Given the description of an element on the screen output the (x, y) to click on. 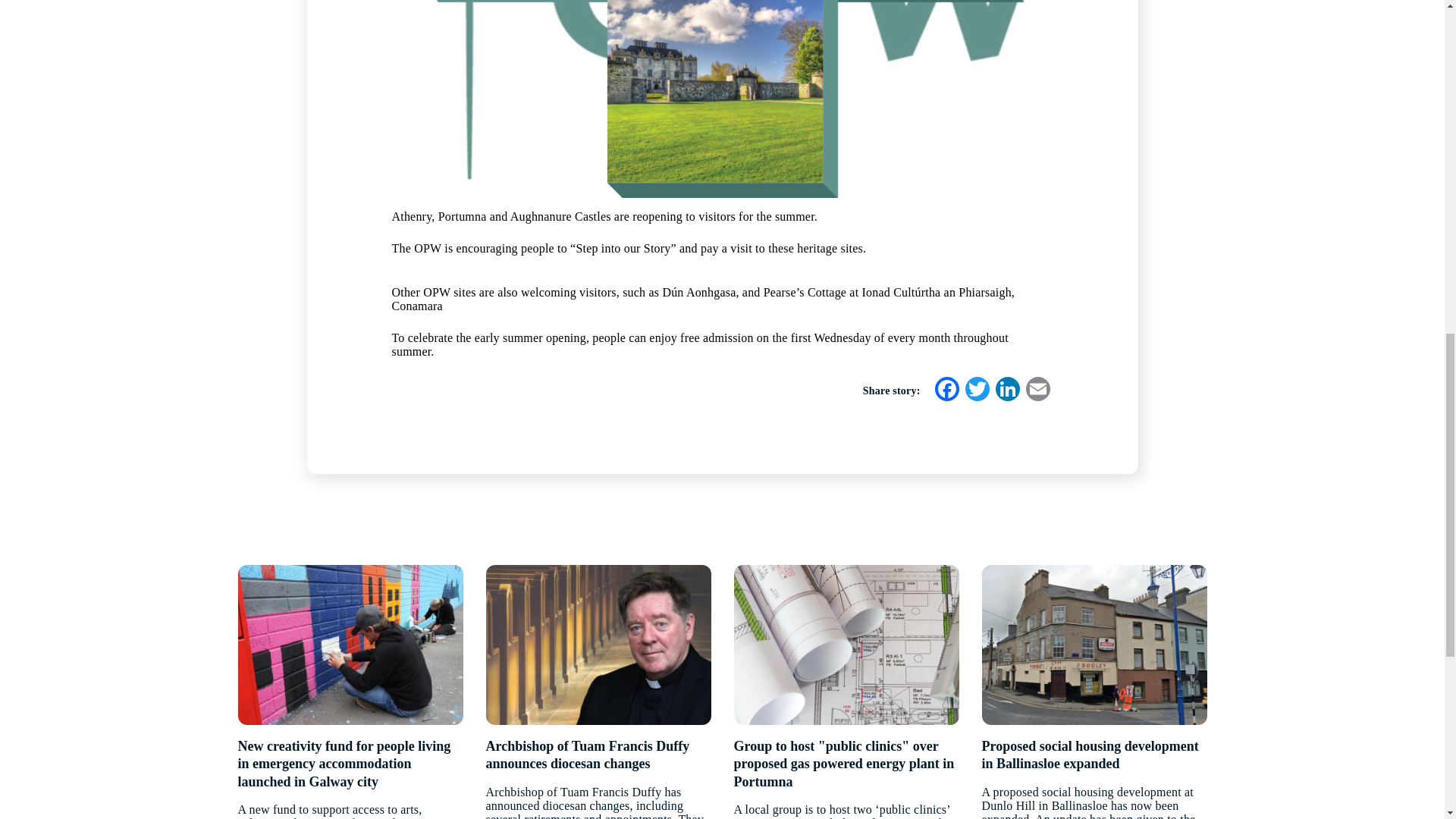
Twitter (975, 390)
Email (1037, 390)
Facebook (945, 390)
Facebook (945, 390)
LinkedIn (1006, 390)
Archbishop of Tuam Francis Duffy announces diocesan changes (597, 755)
Twitter (975, 390)
LinkedIn (1006, 390)
Email (1037, 390)
